Given the description of an element on the screen output the (x, y) to click on. 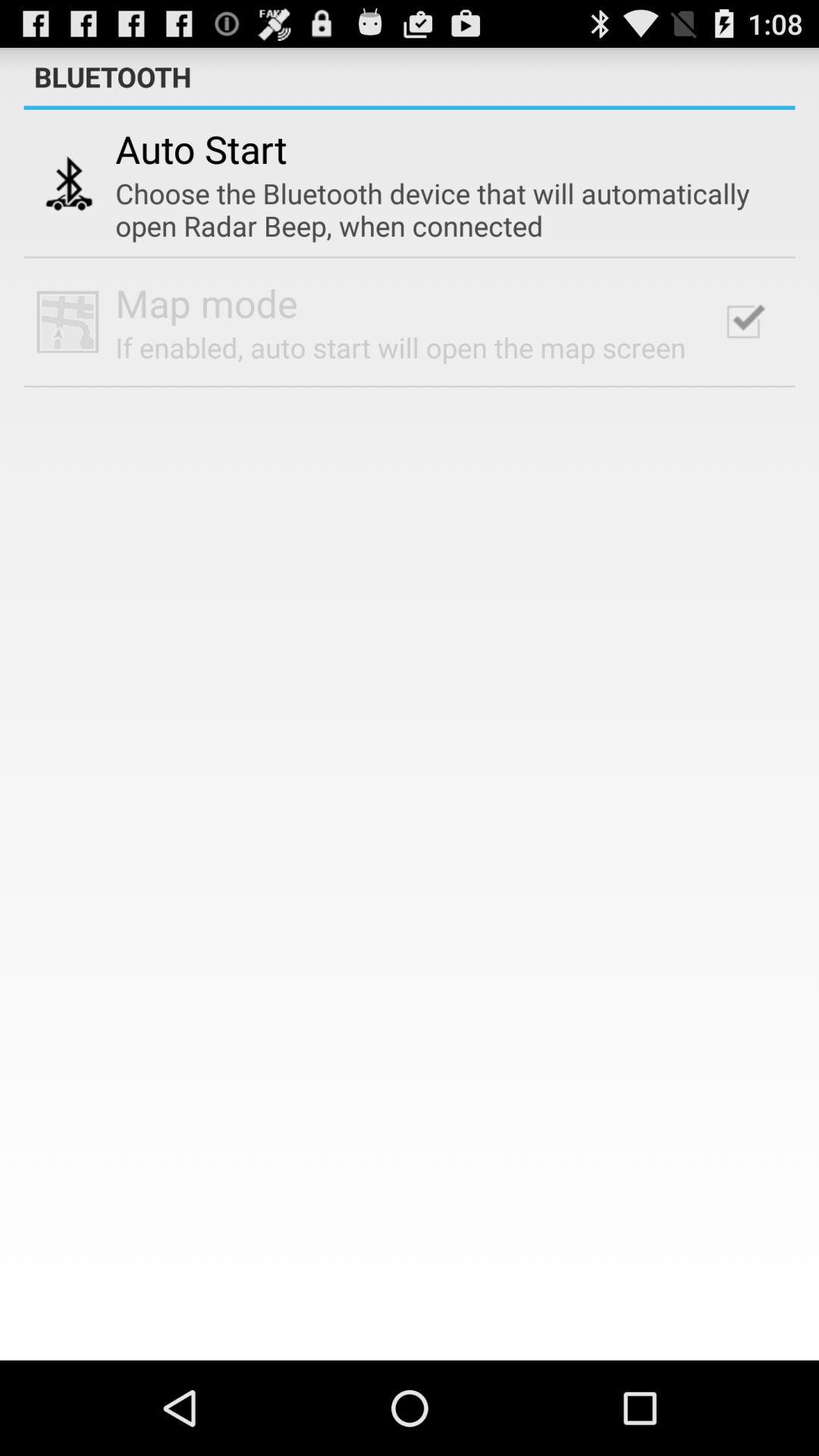
press the item below the choose the bluetooth app (743, 321)
